Given the description of an element on the screen output the (x, y) to click on. 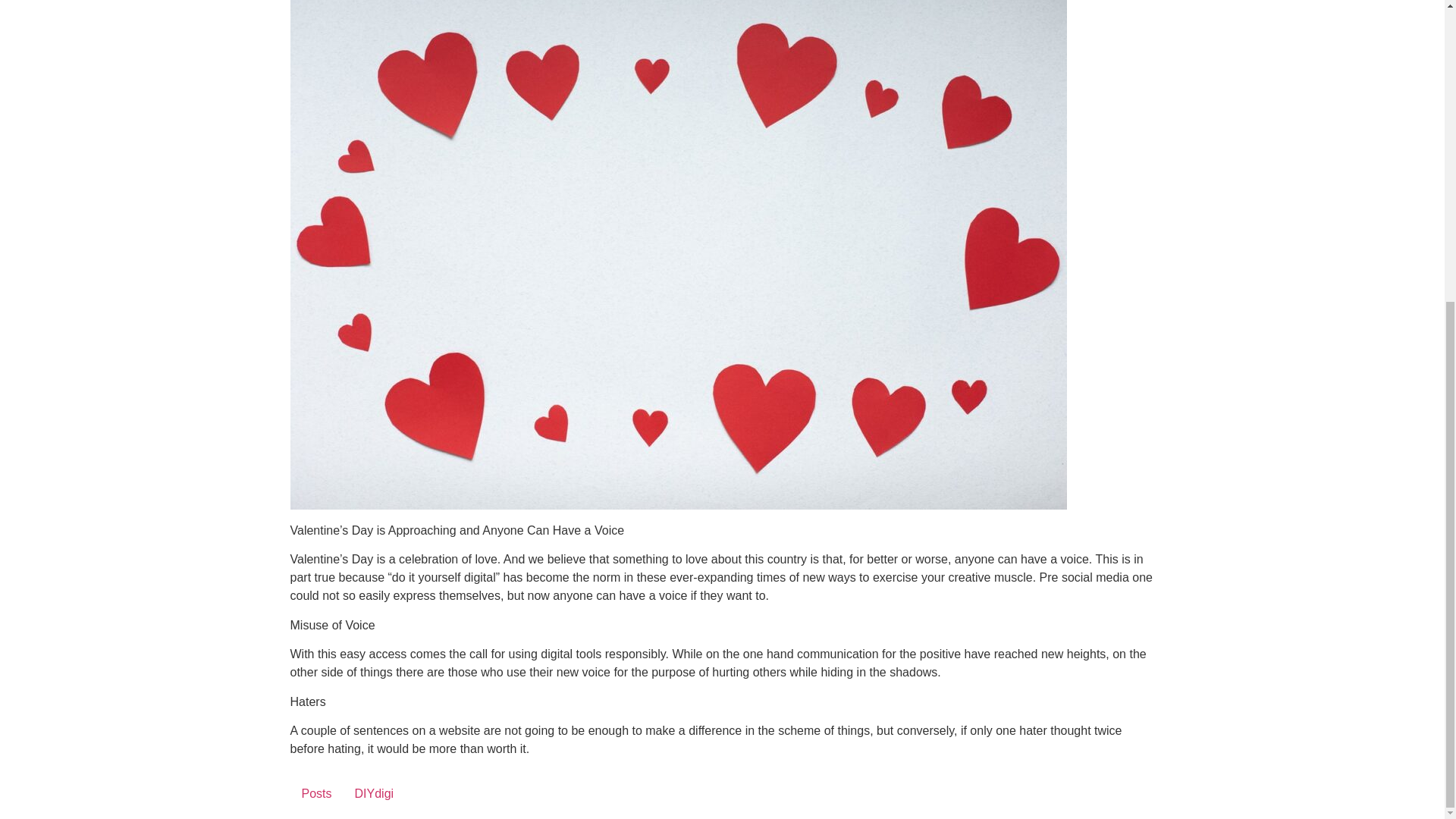
DIYdigi (374, 793)
Posts (315, 793)
